Given the description of an element on the screen output the (x, y) to click on. 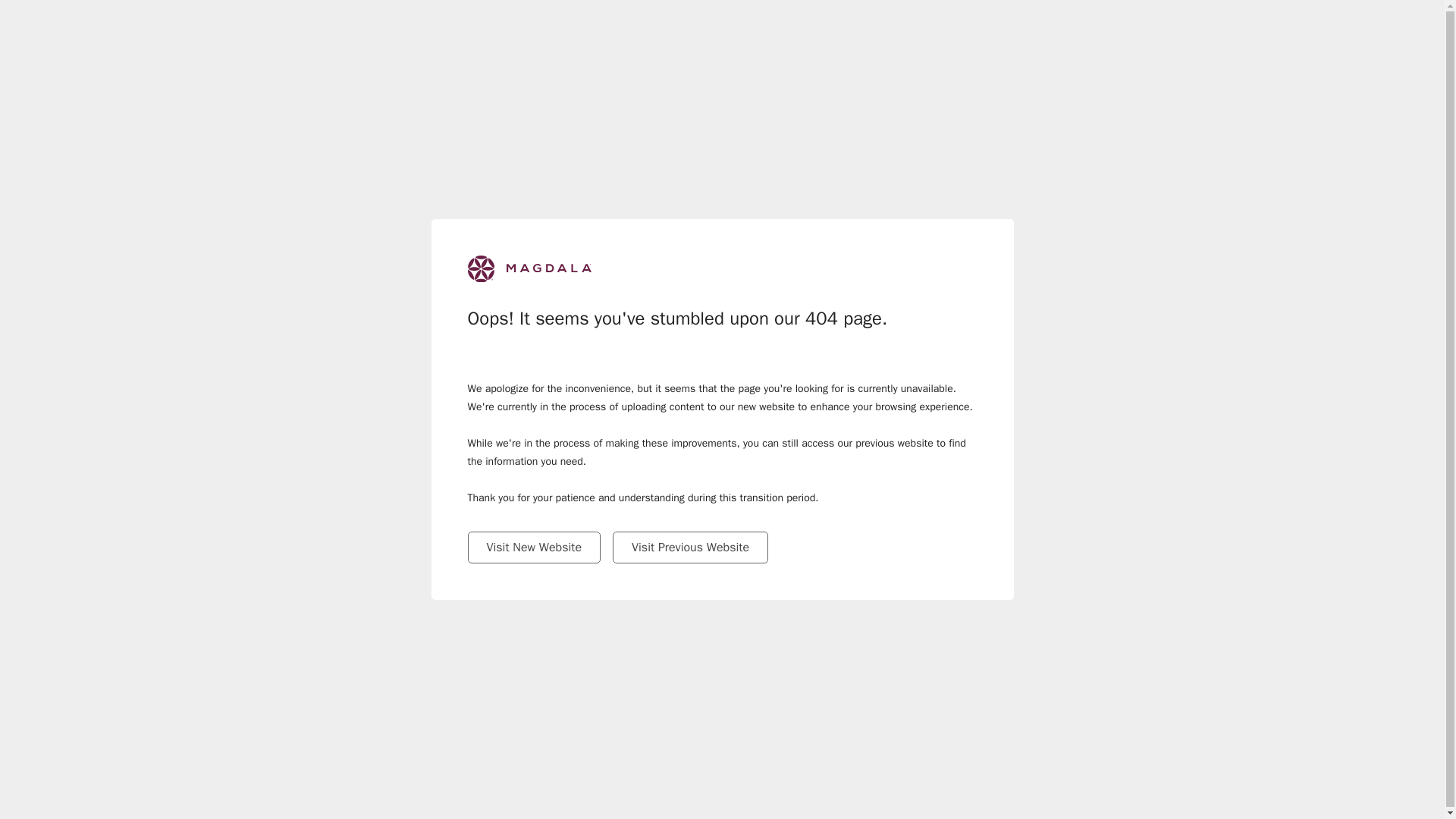
Visit New Website (533, 547)
Visit Previous Website (690, 547)
